Given the description of an element on the screen output the (x, y) to click on. 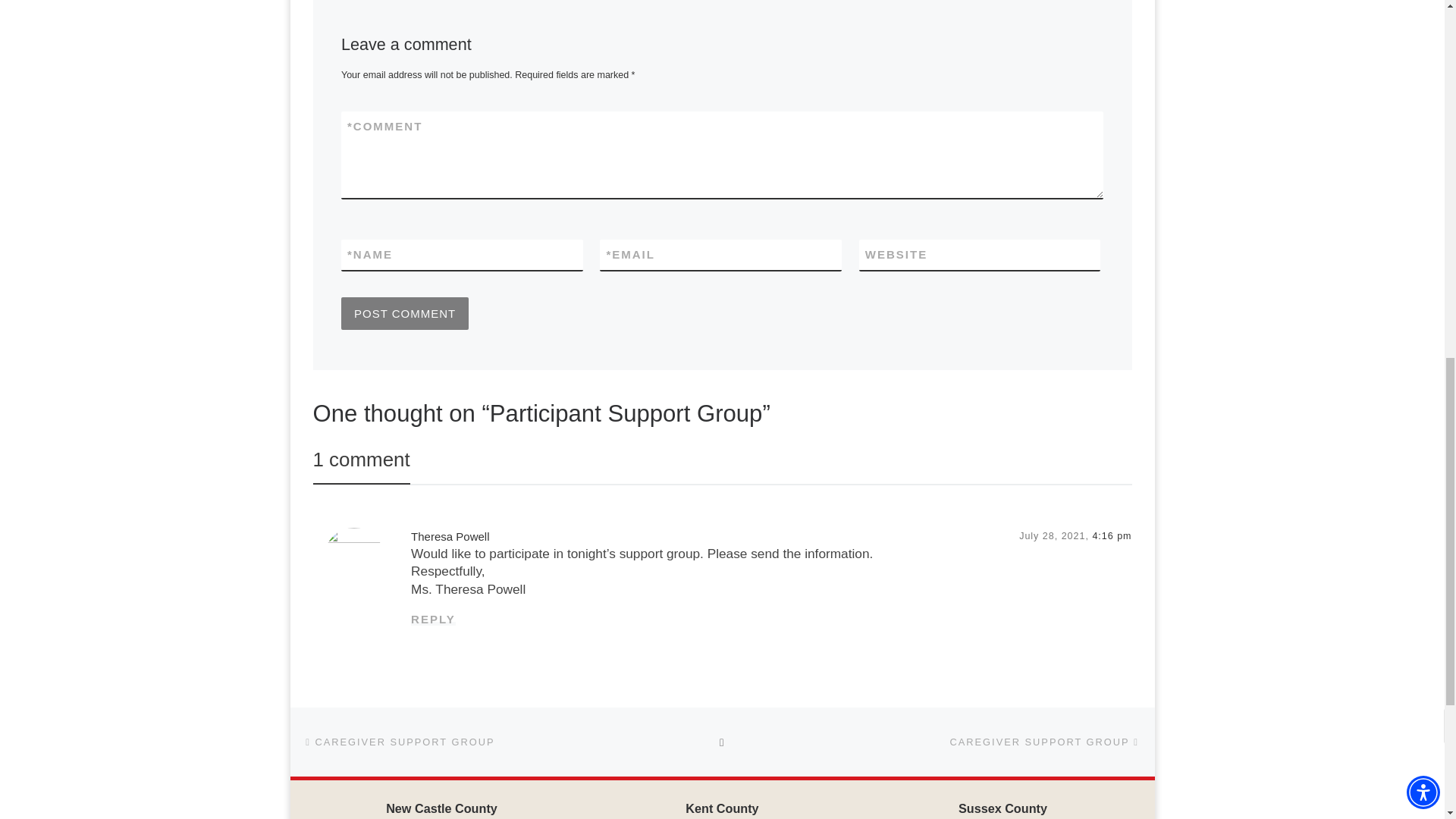
Post Comment (404, 313)
